Given the description of an element on the screen output the (x, y) to click on. 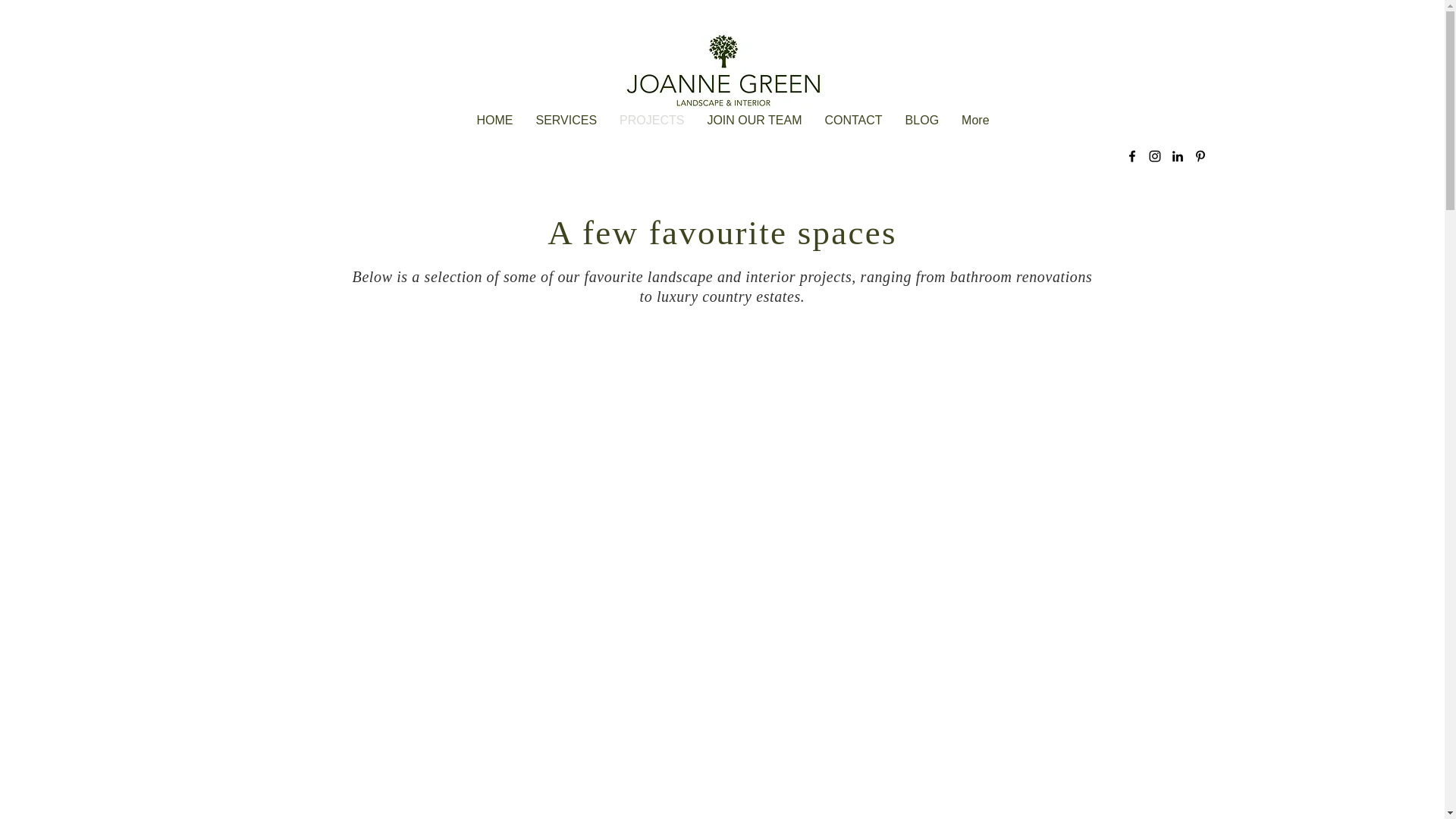
SERVICES Element type: text (566, 127)
BLOG Element type: text (922, 127)
JOIN OUR TEAM Element type: text (753, 127)
HOME Element type: text (494, 127)
PROJECTS Element type: text (651, 127)
CONTACT Element type: text (852, 127)
